Given the description of an element on the screen output the (x, y) to click on. 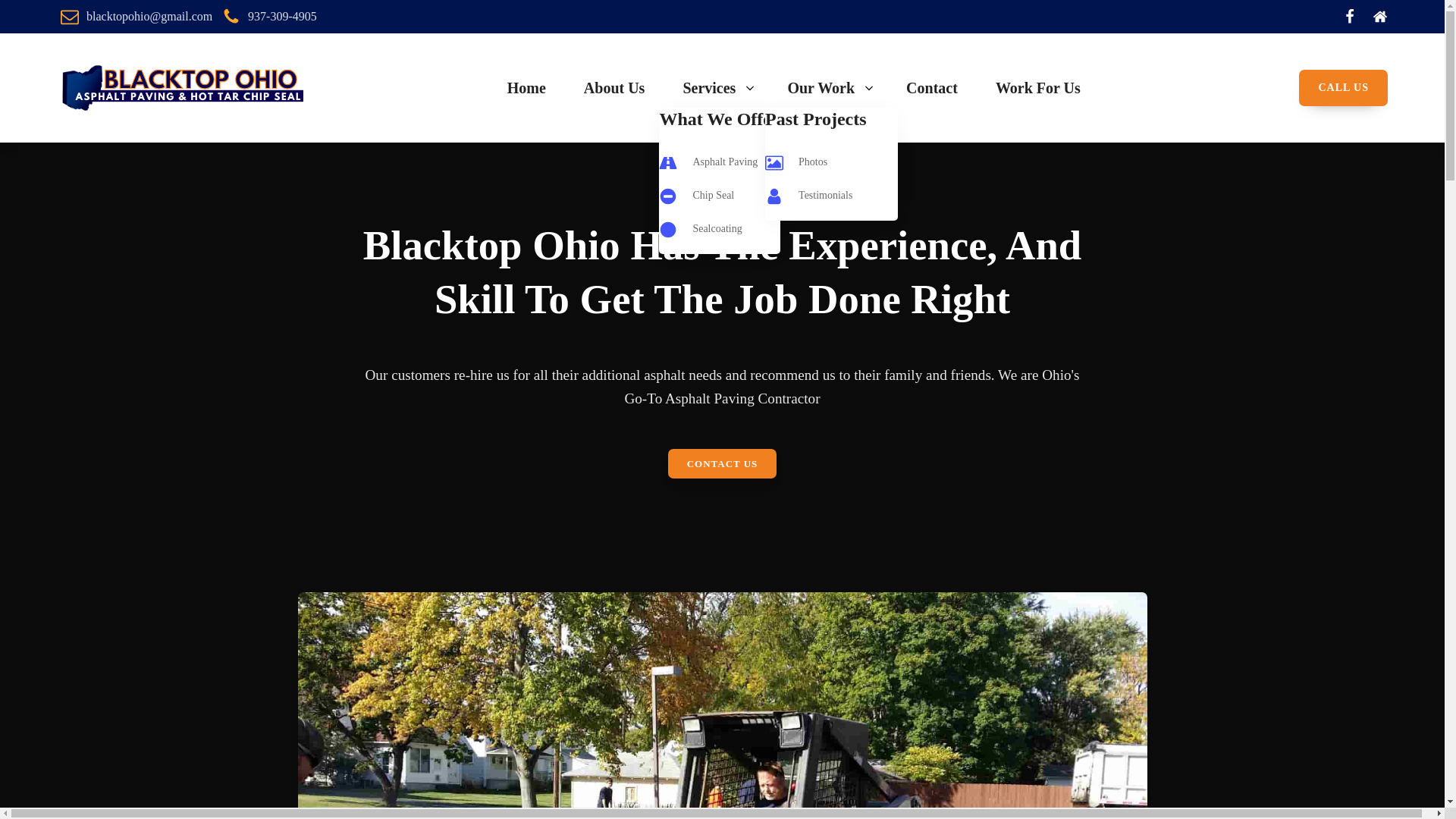
About Us (617, 87)
Asphalt Paving (725, 162)
Chip Seal (713, 195)
Sealcoating (717, 228)
Home (529, 87)
937-309-4905 (269, 16)
